Given the description of an element on the screen output the (x, y) to click on. 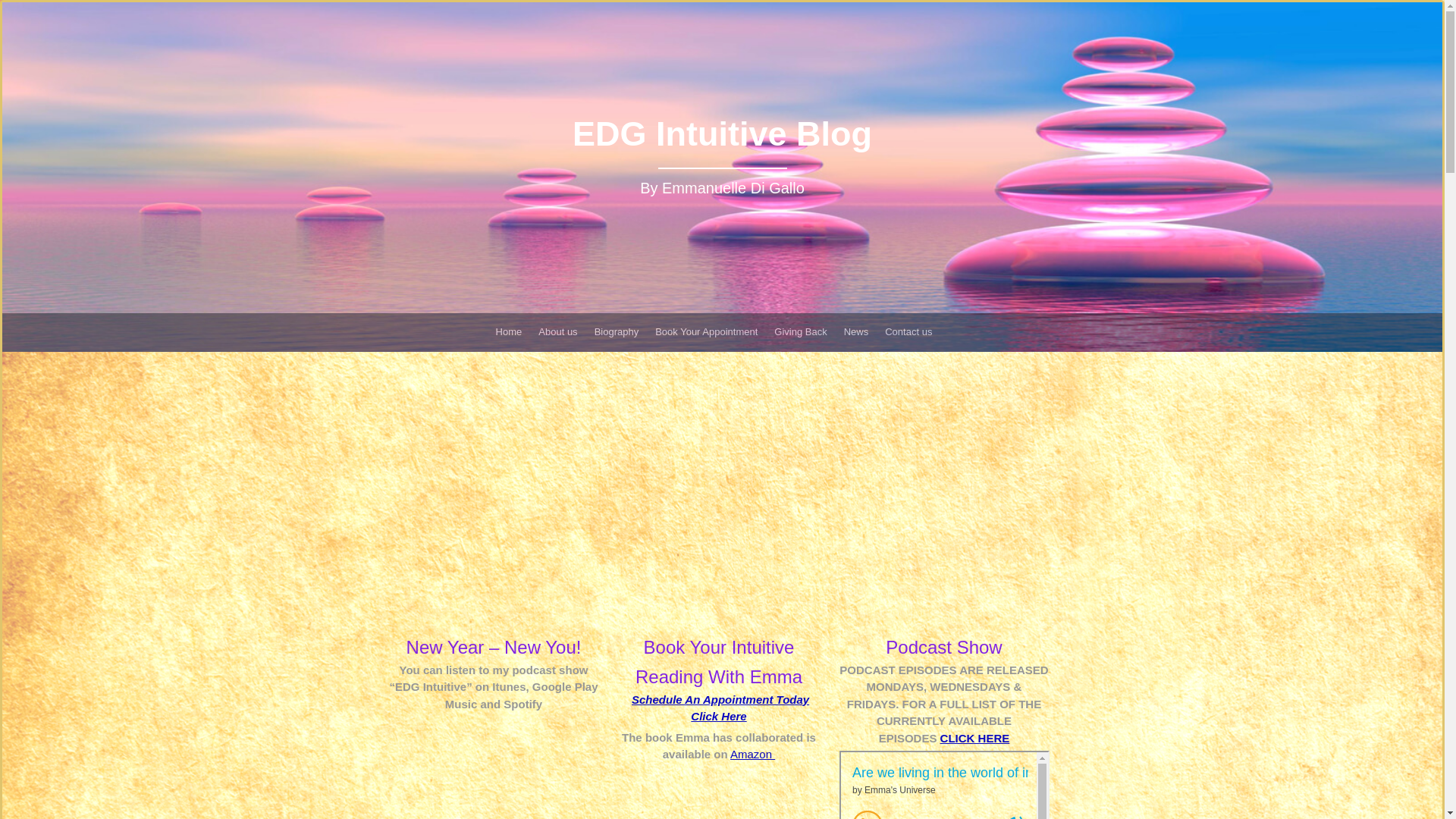
Biography (616, 331)
Amazon  (752, 753)
Giving Back (800, 331)
Contact us (908, 331)
Search (30, 11)
Schedule An Appointment Today Click Here (720, 707)
EDG Intuitive Blog (721, 141)
About us (557, 331)
Book Your Appointment (706, 331)
CLICK HERE (975, 737)
